Given the description of an element on the screen output the (x, y) to click on. 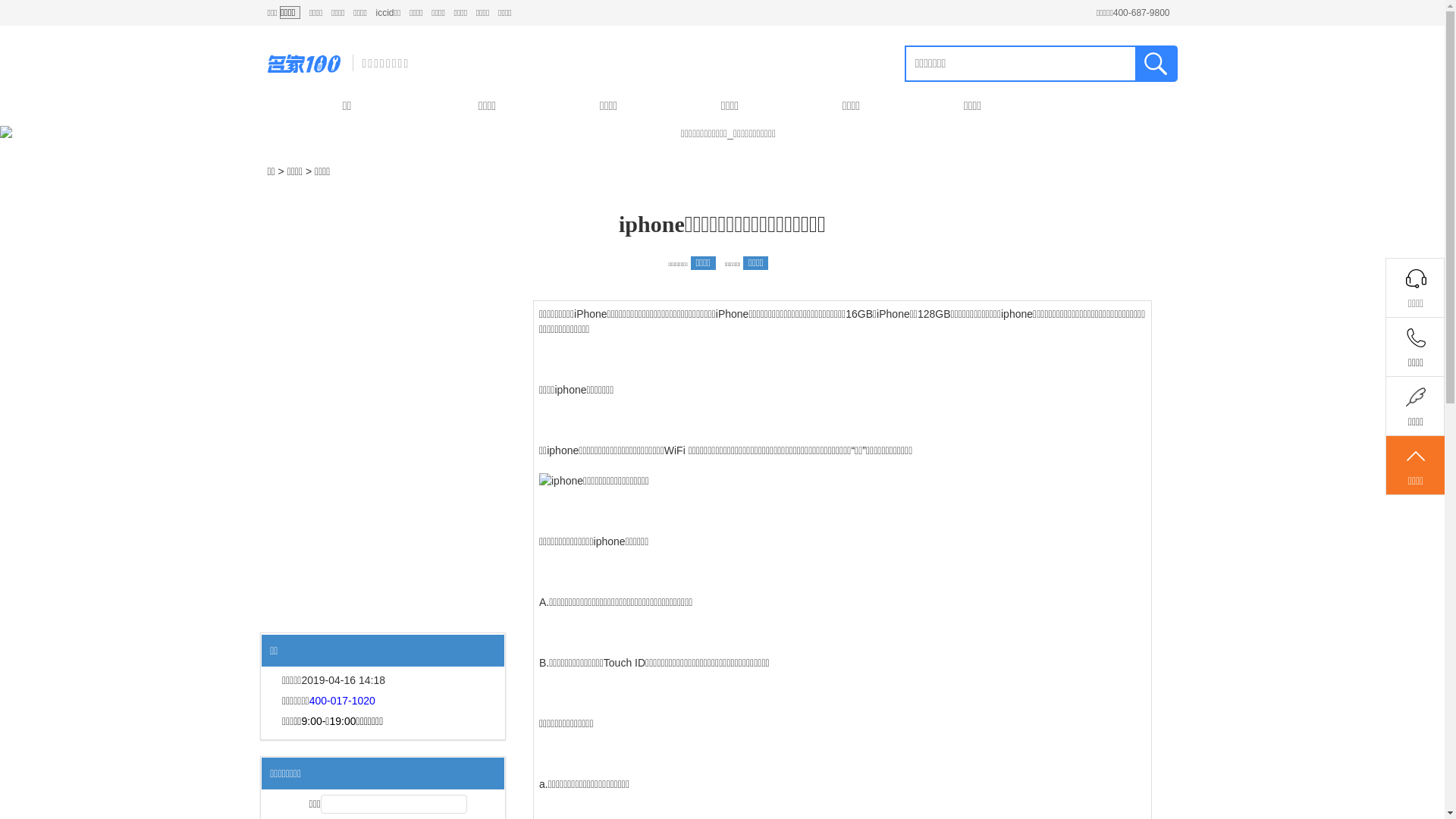
400-017-1020 Element type: text (342, 700)
